Given the description of an element on the screen output the (x, y) to click on. 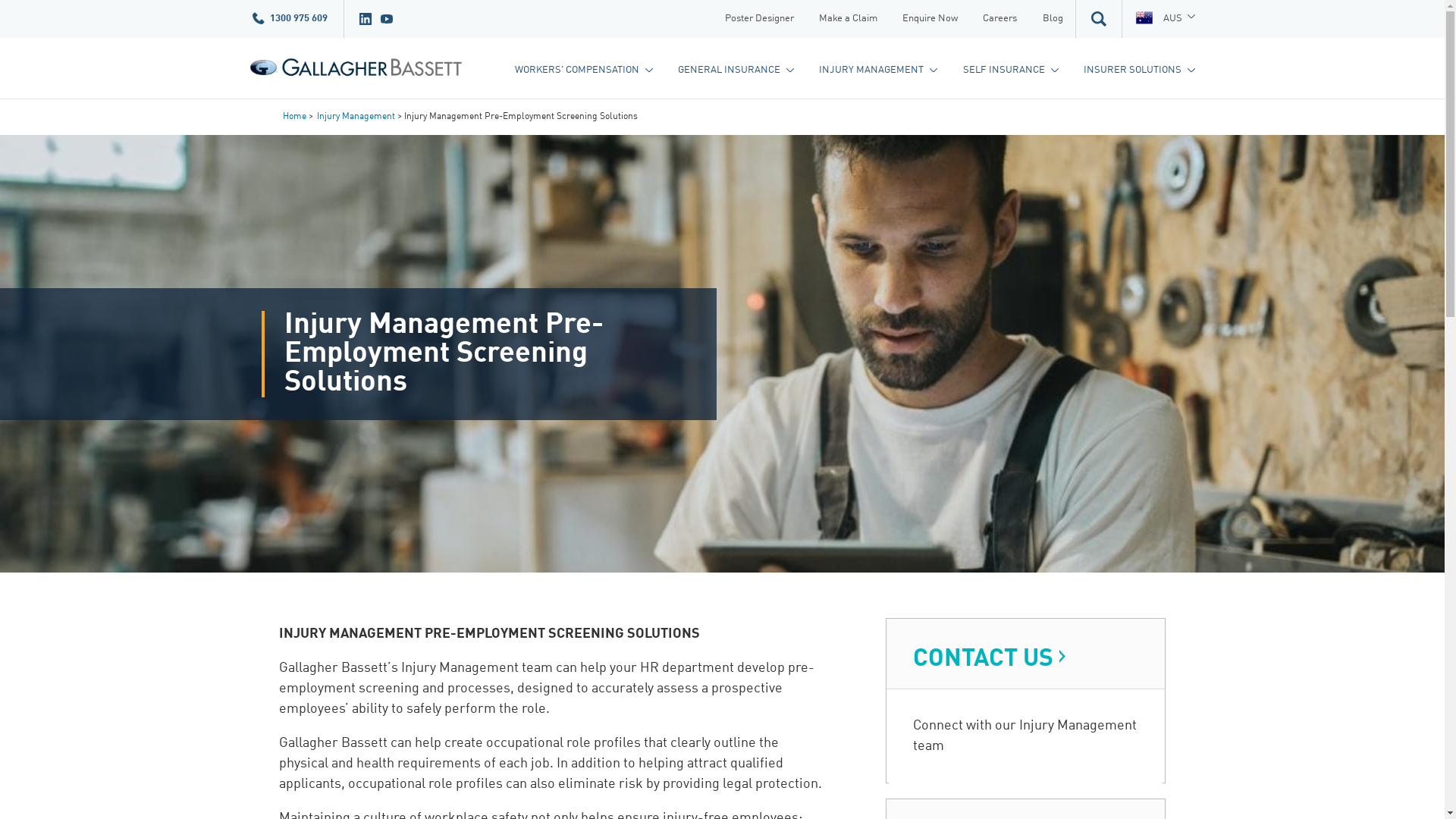
WORKERS' COMPENSATION Element type: text (583, 70)
AUS Element type: text (1164, 18)
Blog Element type: text (1052, 18)
Poster Designer Element type: text (759, 18)
Careers Element type: text (999, 18)
Home Element type: text (293, 116)
INSURER SOLUTIONS Element type: text (1138, 70)
1300 975 609 Element type: text (289, 18)
INJURY MANAGEMENT Element type: text (878, 70)
Injury Management Element type: text (355, 116)
SELF INSURANCE Element type: text (1010, 70)
Make a Claim Element type: text (847, 18)
Enquire Now Element type: text (930, 18)
GENERAL INSURANCE Element type: text (735, 70)
